Given the description of an element on the screen output the (x, y) to click on. 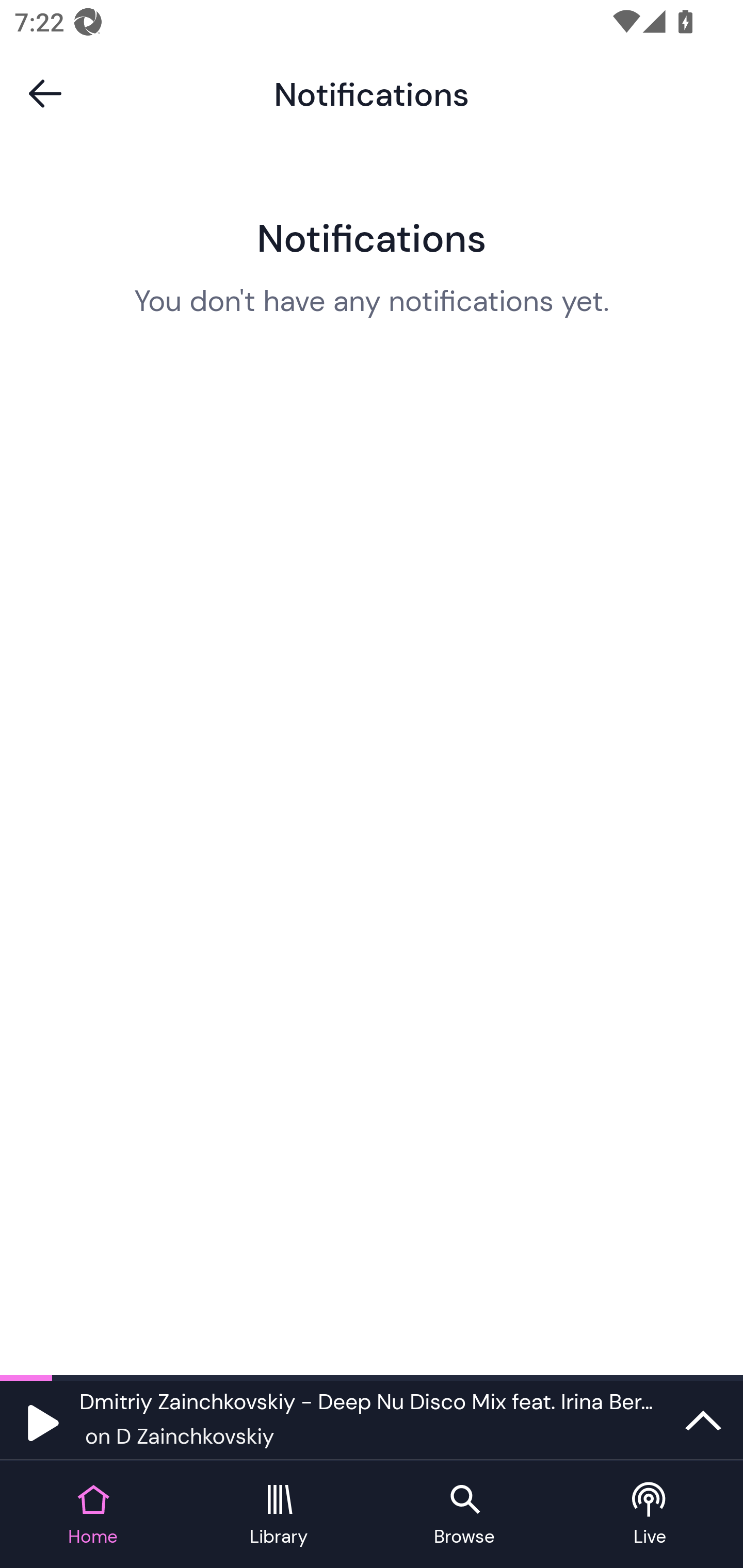
Home tab Home (92, 1515)
Library tab Library (278, 1515)
Browse tab Browse (464, 1515)
Live tab Live (650, 1515)
